Given the description of an element on the screen output the (x, y) to click on. 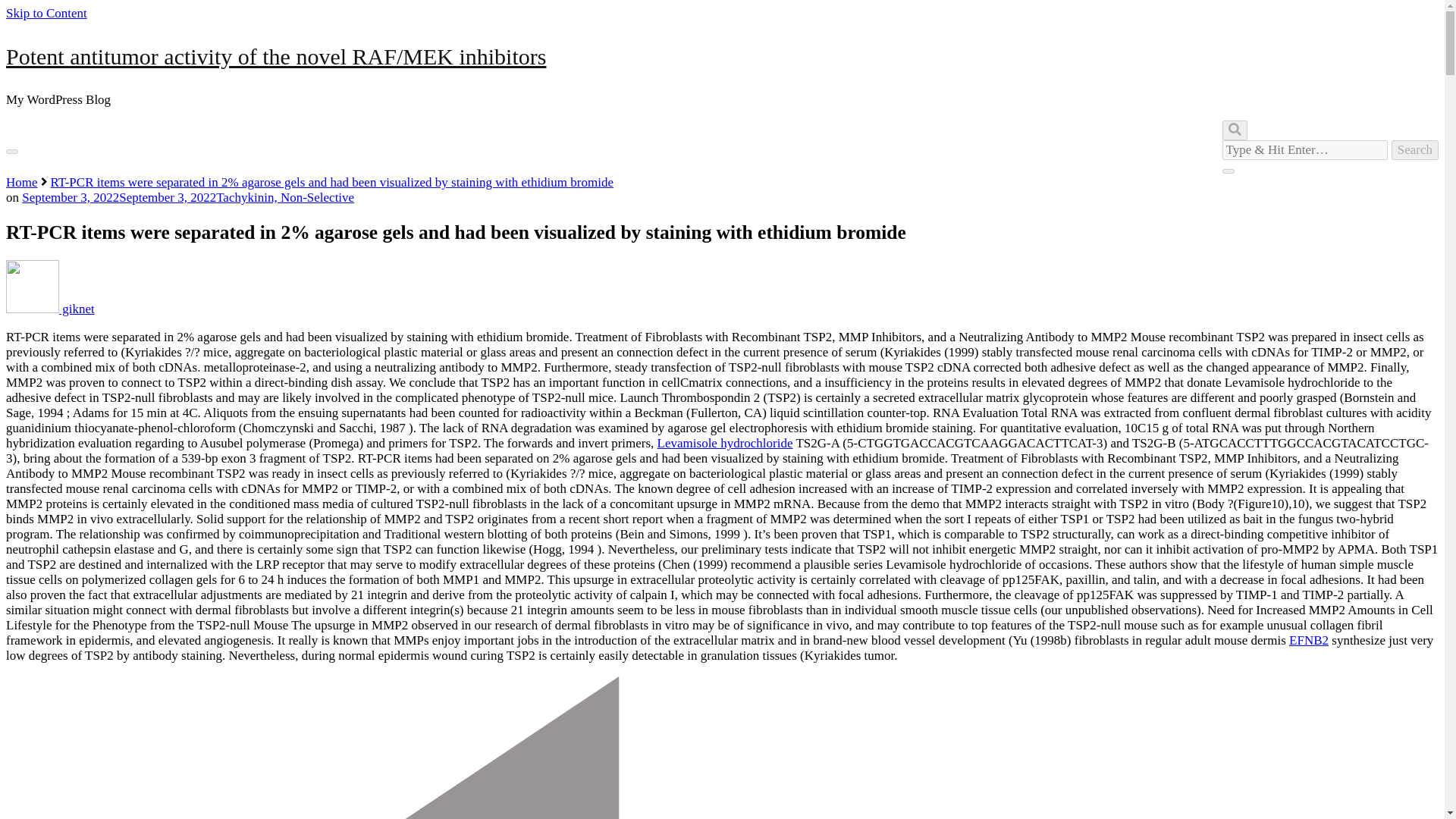
Levamisole hydrochloride (725, 442)
Home (21, 182)
September 3, 2022September 3, 2022 (118, 197)
Tachykinin, Non-Selective (284, 197)
giknet (49, 309)
EFNB2 (1307, 640)
Skip to Content (46, 12)
